Given the description of an element on the screen output the (x, y) to click on. 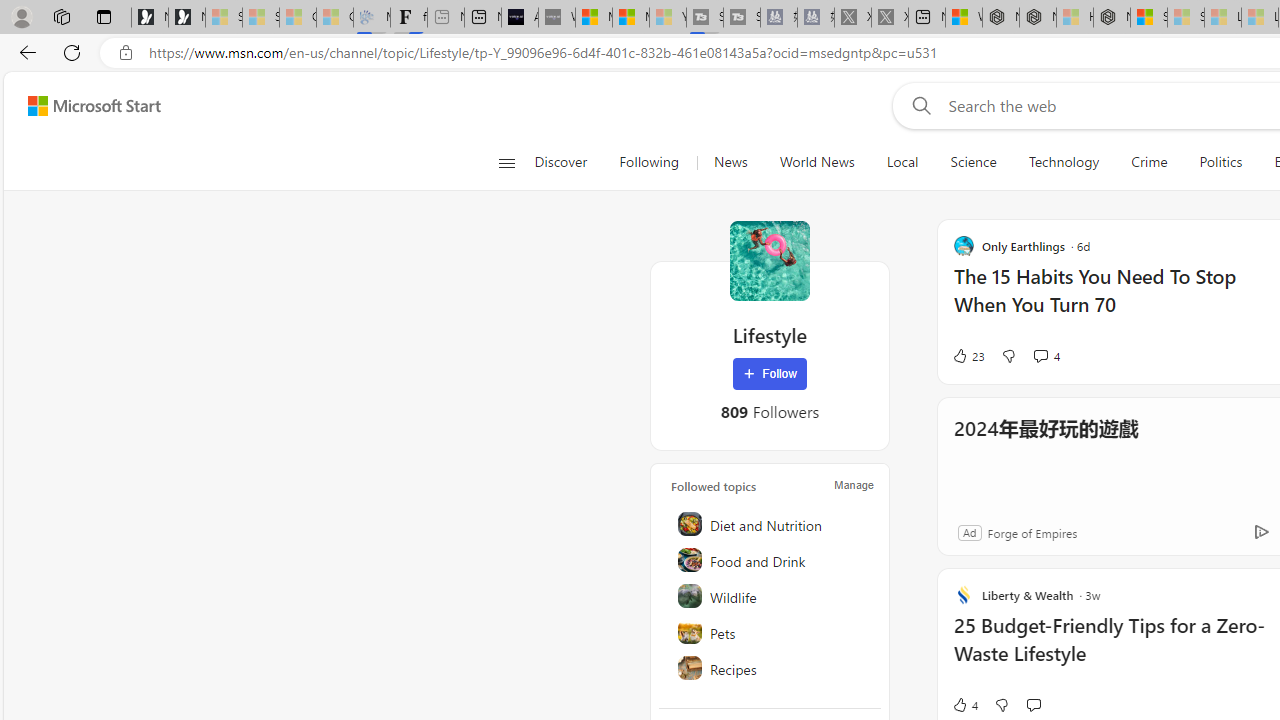
Ad Choice (1261, 532)
Pets (771, 632)
Class: button-glyph (505, 162)
View comments 4 Comment (1045, 355)
Newsletter Sign Up (186, 17)
The 15 Habits You Need To Stop When You Turn 70 (1115, 300)
Follow (769, 373)
Manage (854, 484)
Nordace - Nordace Siena Is Not An Ordinary Backpack (1112, 17)
View comments 4 Comment (1040, 355)
4 Like (964, 704)
Recipes (771, 668)
Local (902, 162)
